Given the description of an element on the screen output the (x, y) to click on. 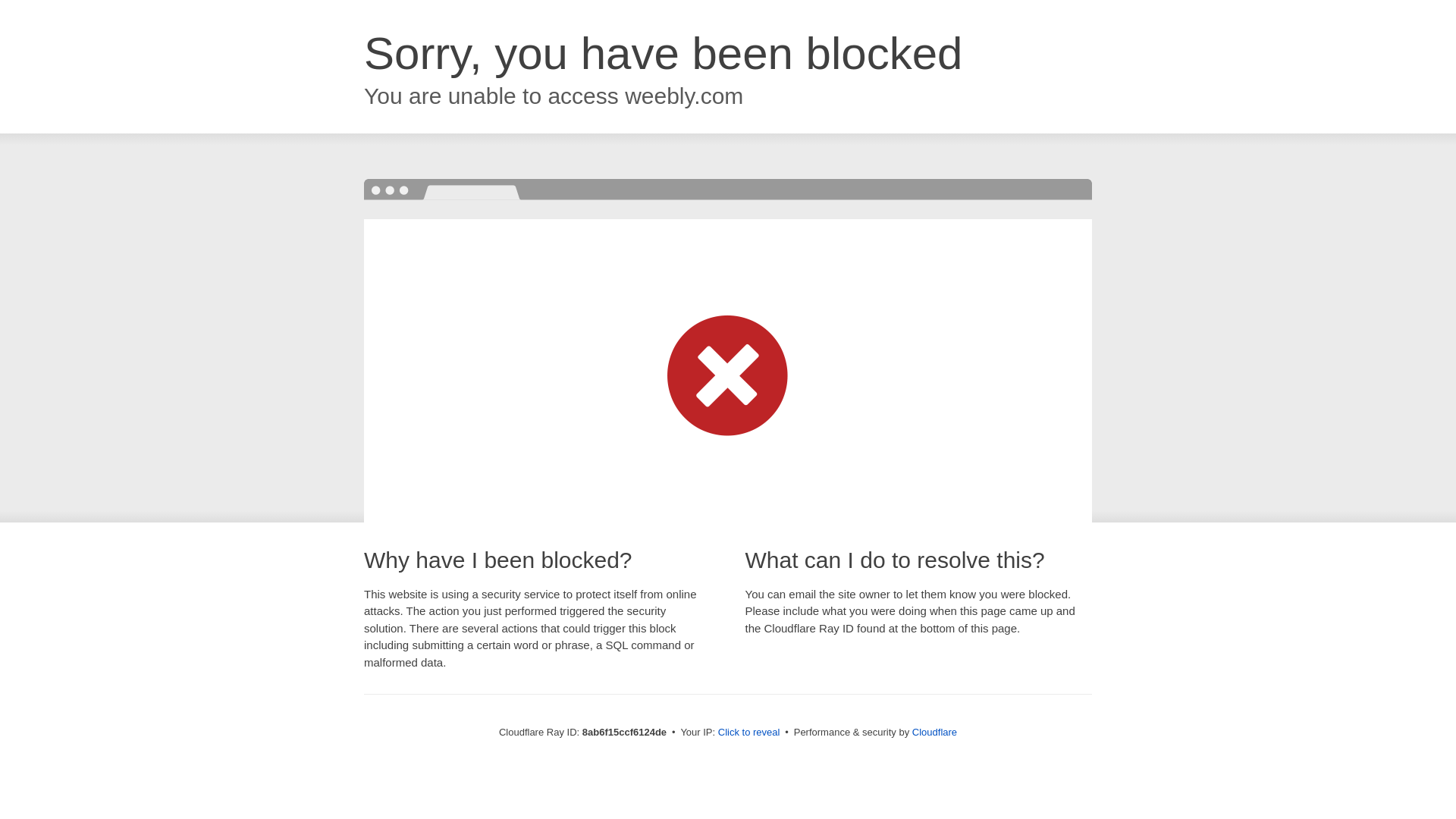
Click to reveal (748, 732)
Cloudflare (934, 731)
